Given the description of an element on the screen output the (x, y) to click on. 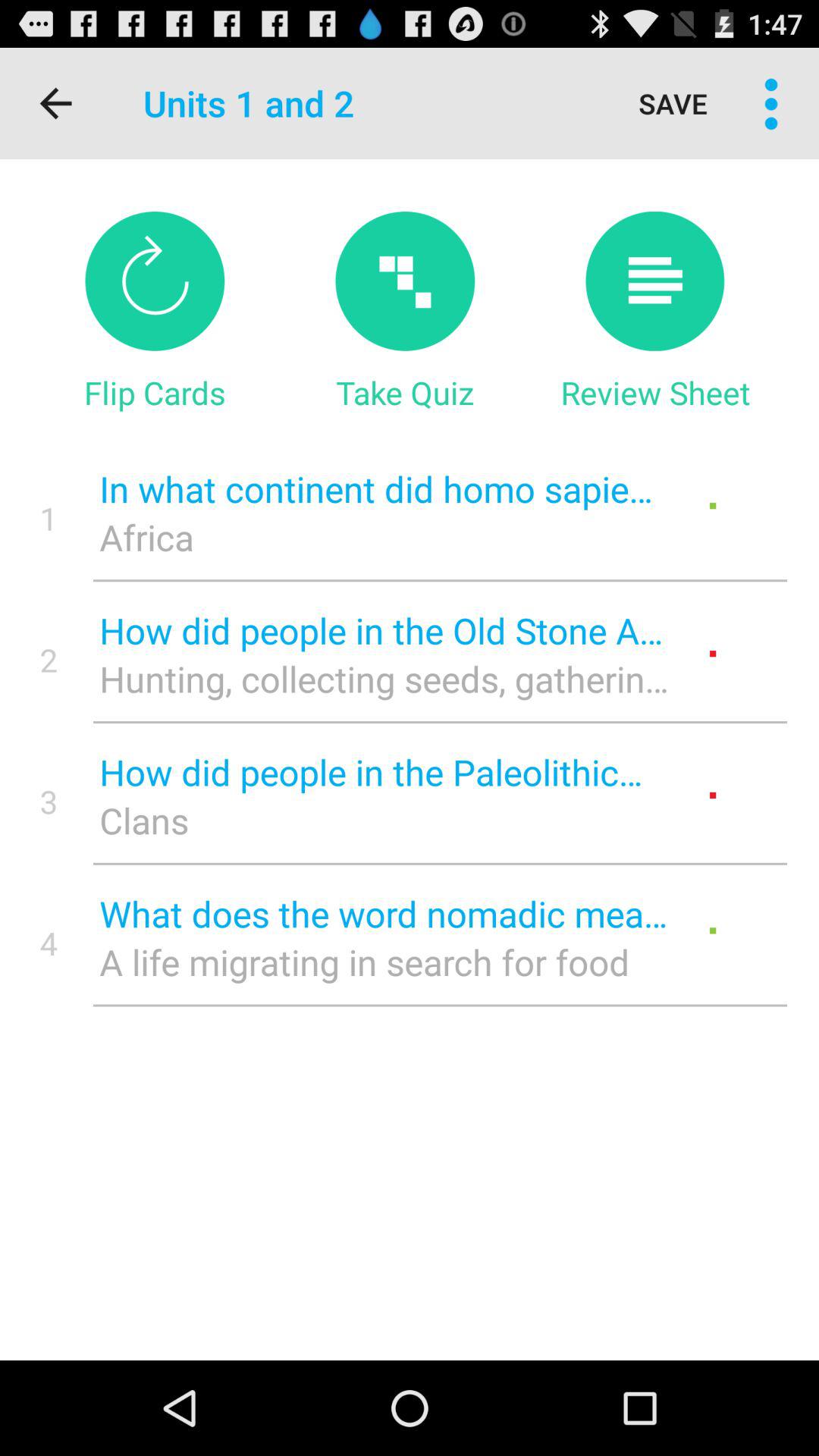
select review sheet (655, 280)
